Given the description of an element on the screen output the (x, y) to click on. 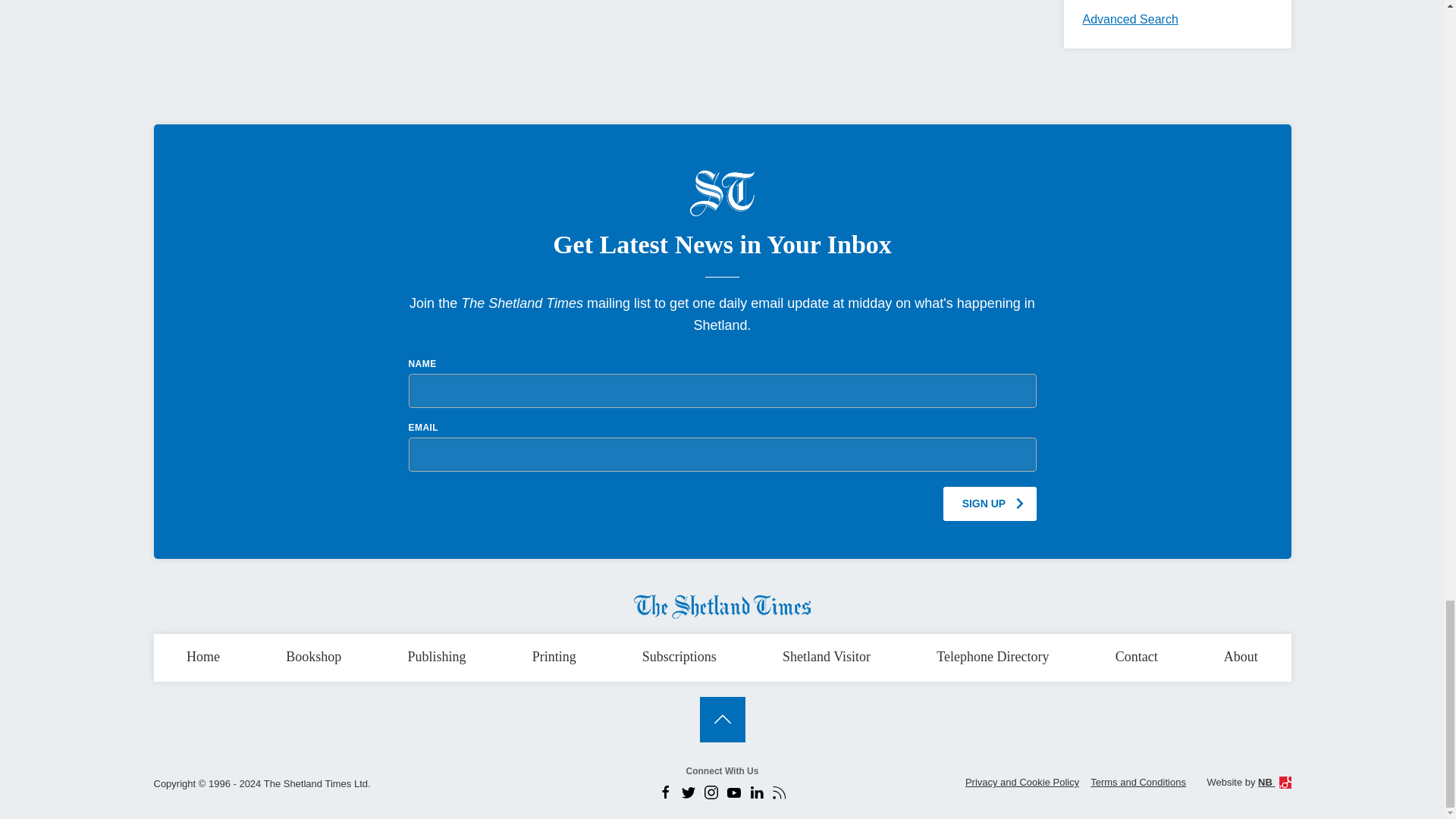
Shetland's website design and internet marketing specialists (1273, 781)
